Given the description of an element on the screen output the (x, y) to click on. 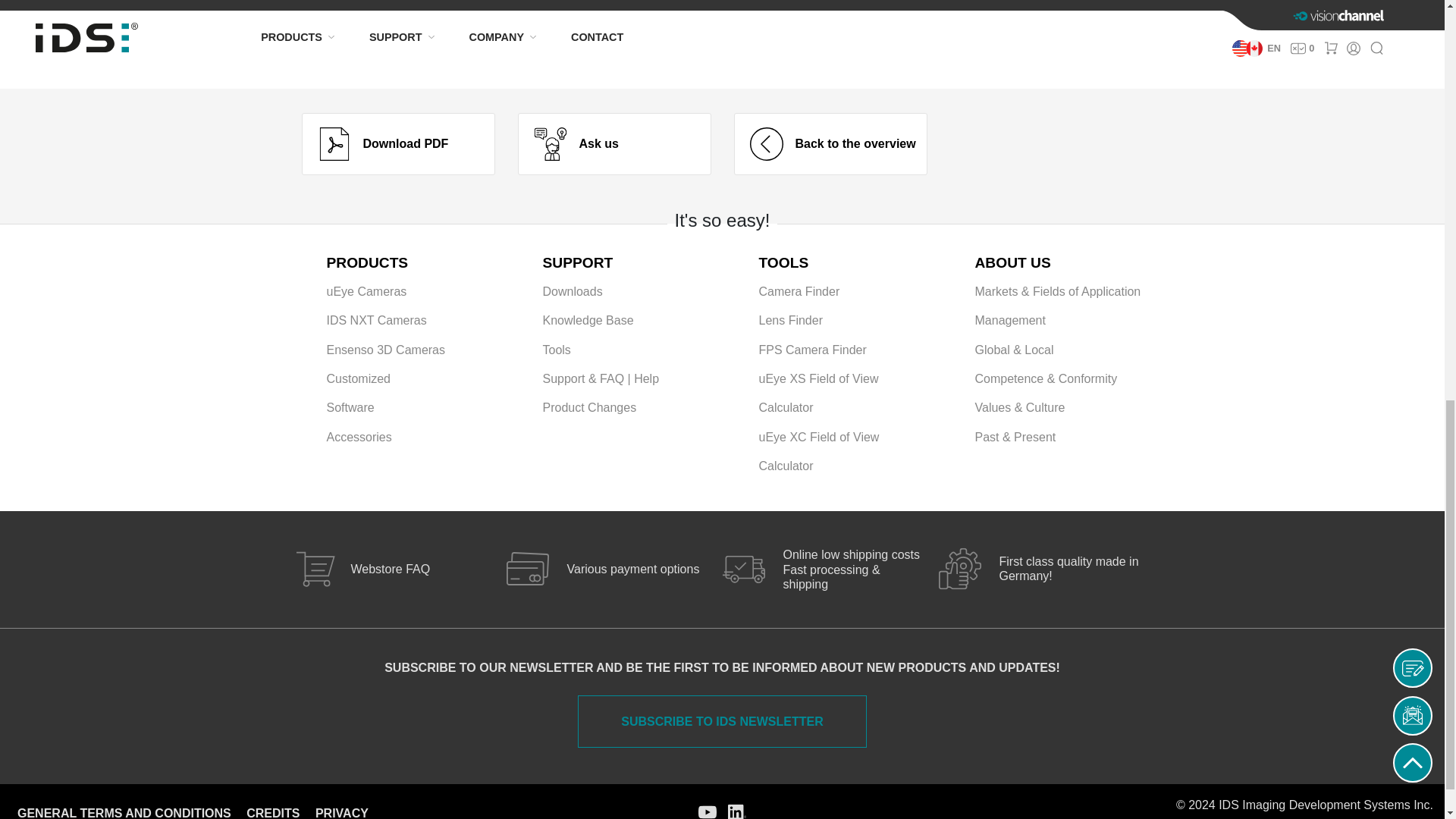
LinkedIn (736, 810)
YouTube (707, 810)
